Given the description of an element on the screen output the (x, y) to click on. 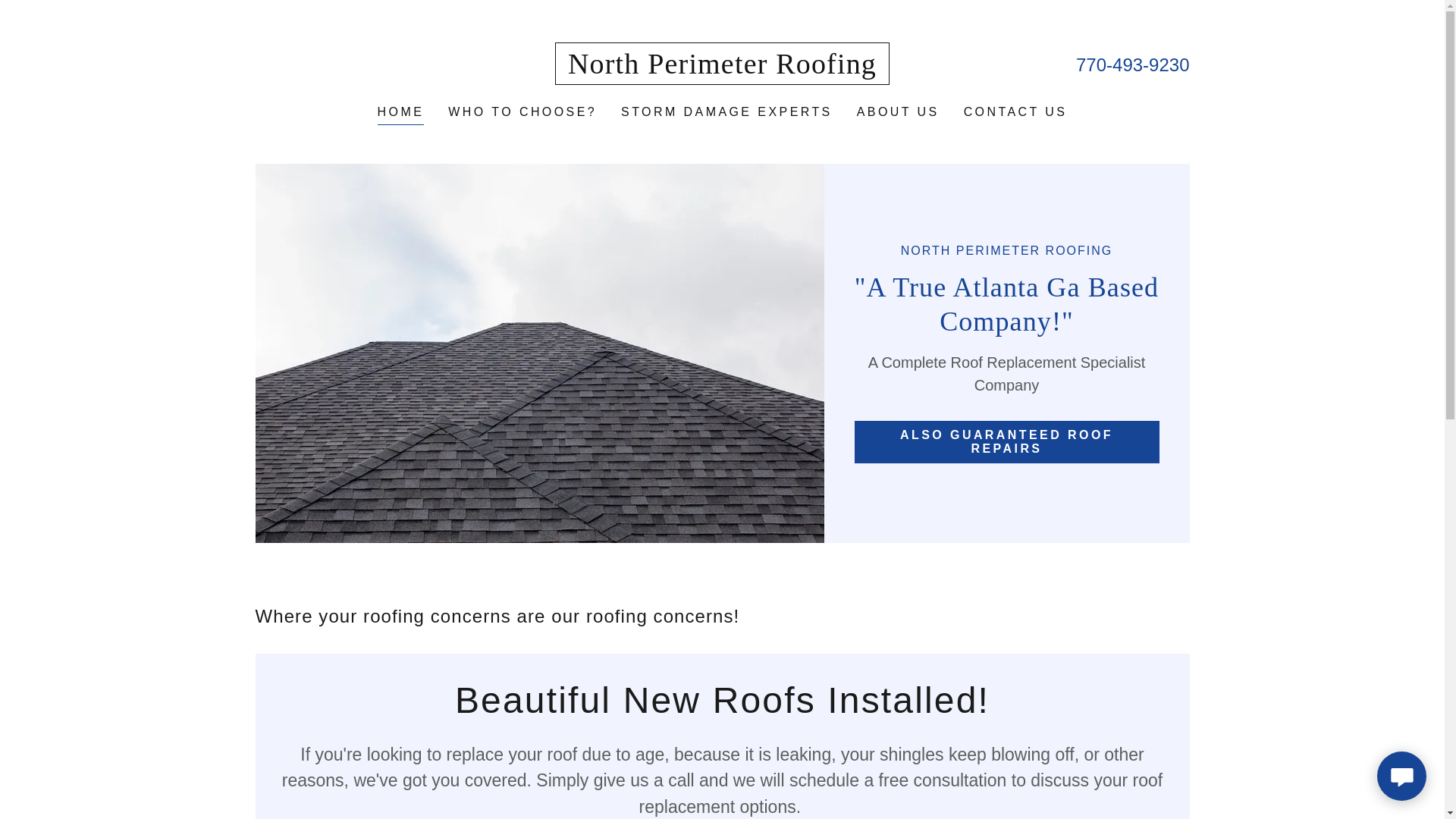
North Perimeter Roofing (721, 68)
770-493-9230 (1132, 64)
STORM DAMAGE EXPERTS (726, 112)
North Perimeter Roofing (721, 68)
CONTACT US (1015, 112)
WHO TO CHOOSE? (522, 112)
HOME (401, 114)
ABOUT US (897, 112)
ALSO GUARANTEED ROOF REPAIRS (1005, 441)
